Given the description of an element on the screen output the (x, y) to click on. 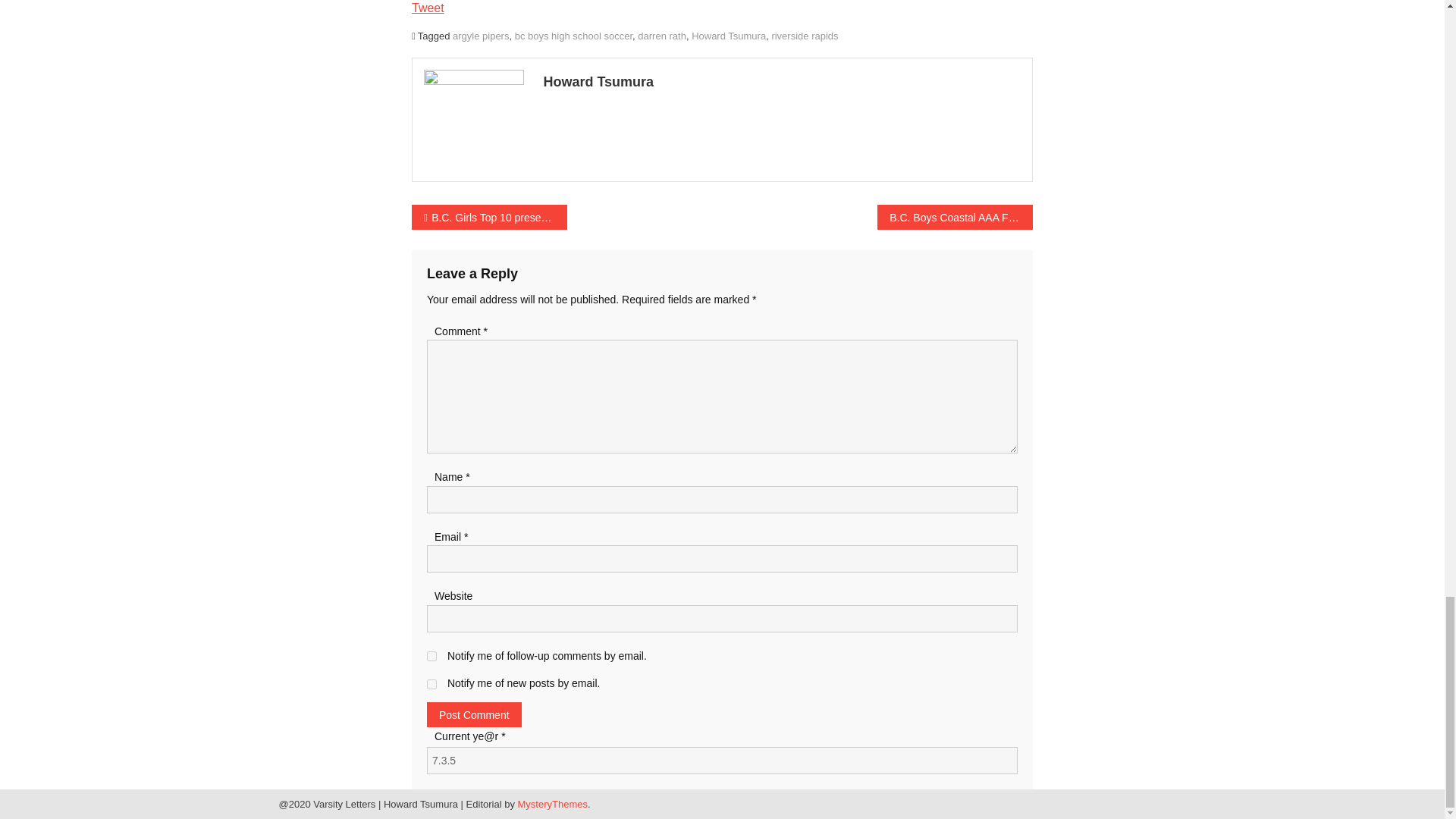
subscribe (431, 684)
Post Comment (473, 714)
7.3.5 (721, 759)
subscribe (431, 655)
